Given the description of an element on the screen output the (x, y) to click on. 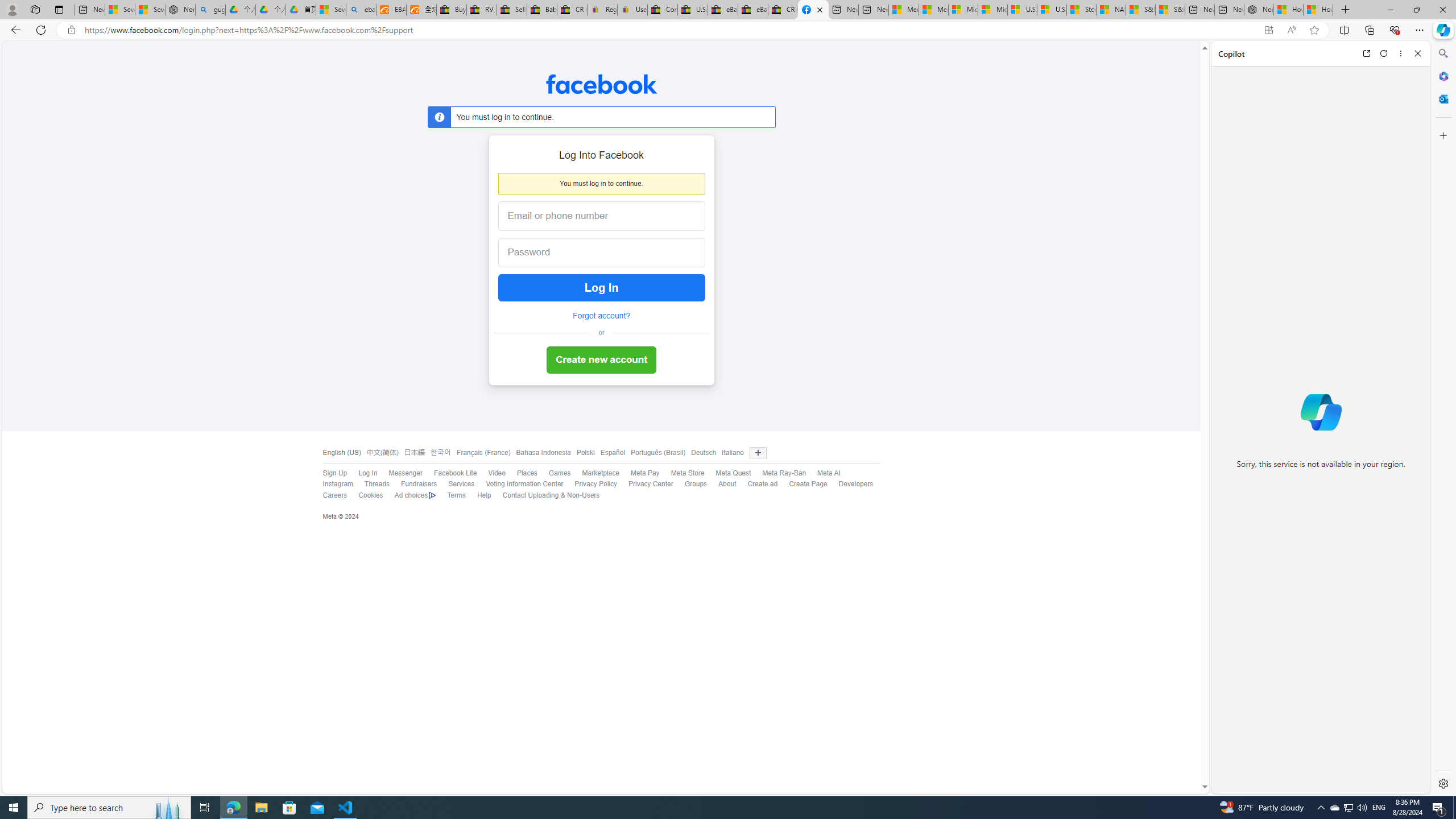
Bahasa Indonesia (539, 452)
eBay Inc. Reports Third Quarter 2023 Results (753, 9)
guge yunpan - Search (210, 9)
Consumer Health Data Privacy Policy - eBay Inc. (662, 9)
Create new account (601, 360)
Privacy Policy (590, 484)
Log In (367, 473)
Help (484, 494)
Terms (450, 495)
